Given the description of an element on the screen output the (x, y) to click on. 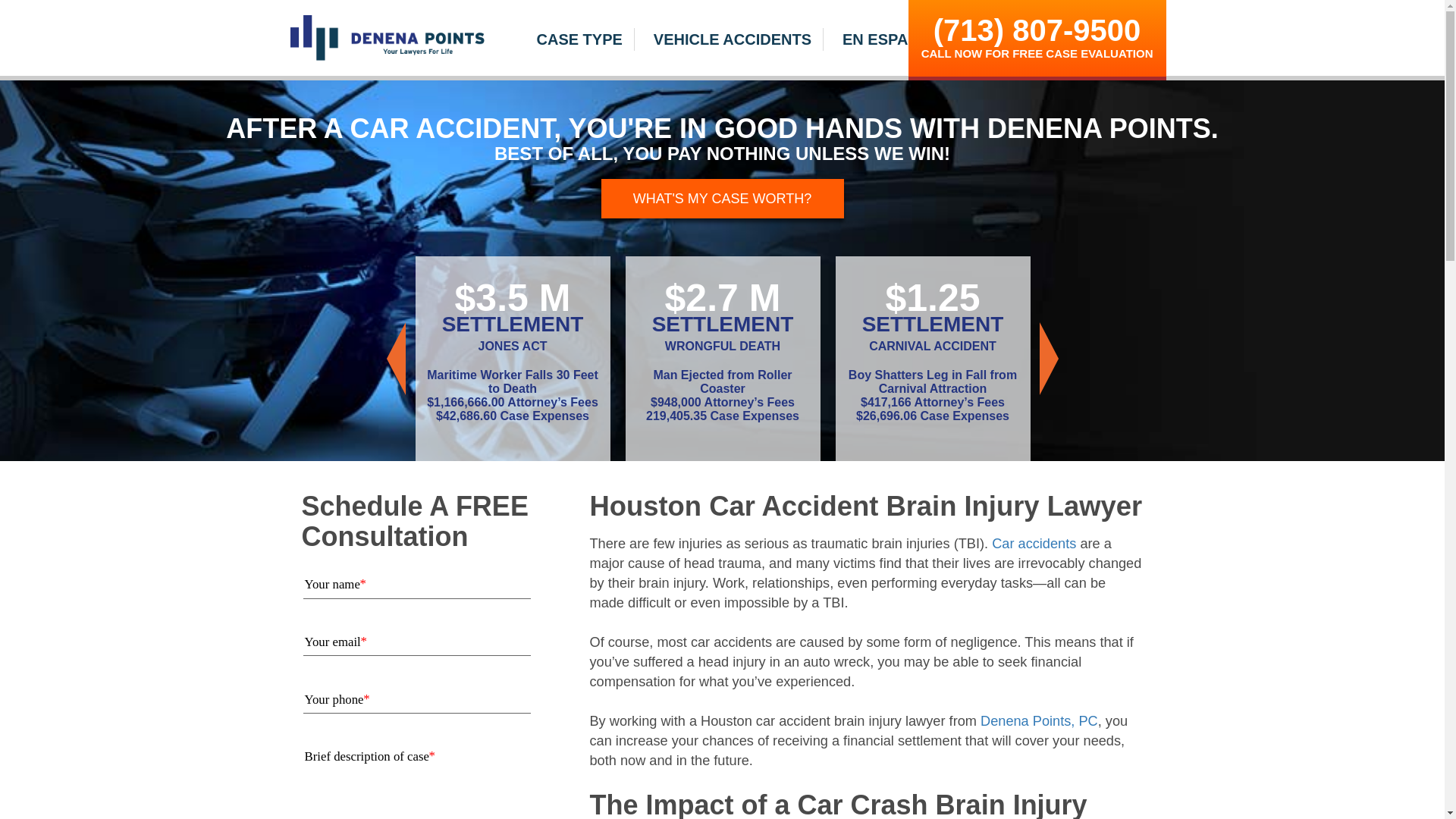
CASE TYPE (578, 38)
VEHICLE ACCIDENTS (733, 38)
